Given the description of an element on the screen output the (x, y) to click on. 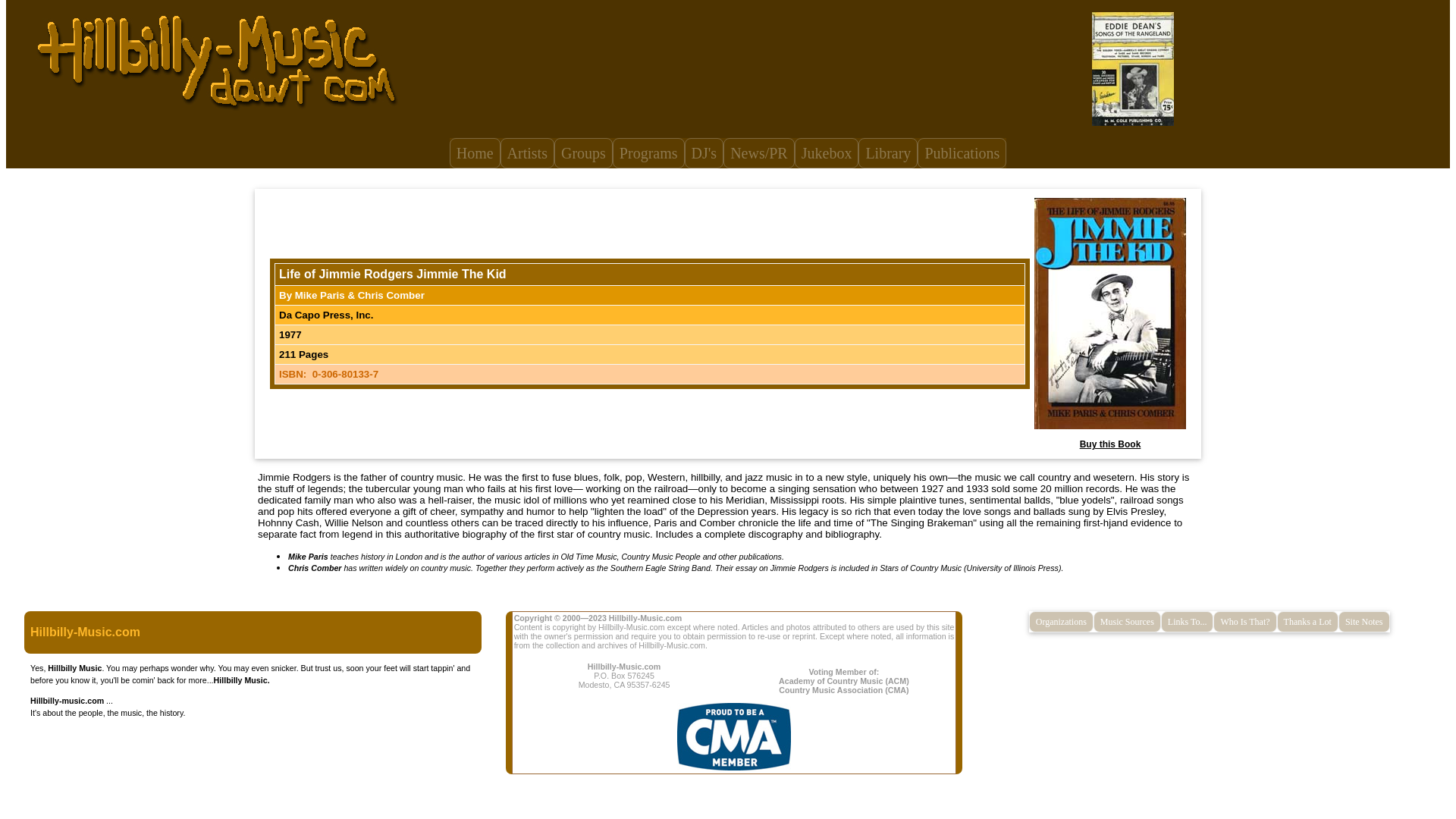
Music Sources (1126, 621)
Library (888, 153)
Buy this Book (1110, 443)
Programs (648, 153)
Publications (961, 153)
Artists (527, 153)
Jukebox (826, 153)
Home (474, 153)
Organizations (1061, 621)
Groups (583, 153)
DJ's (703, 153)
